Given the description of an element on the screen output the (x, y) to click on. 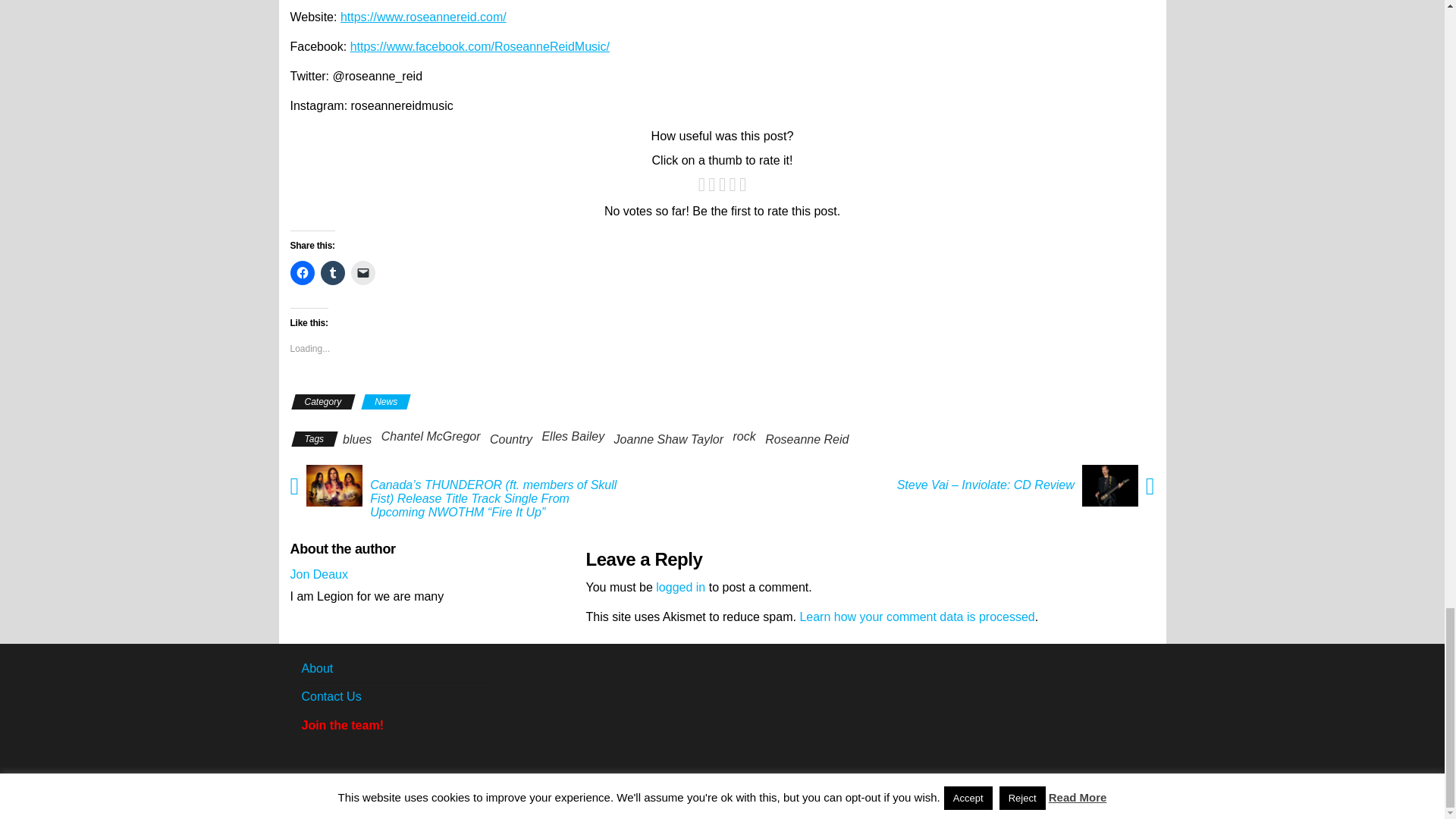
blues (356, 439)
News (385, 401)
